Given the description of an element on the screen output the (x, y) to click on. 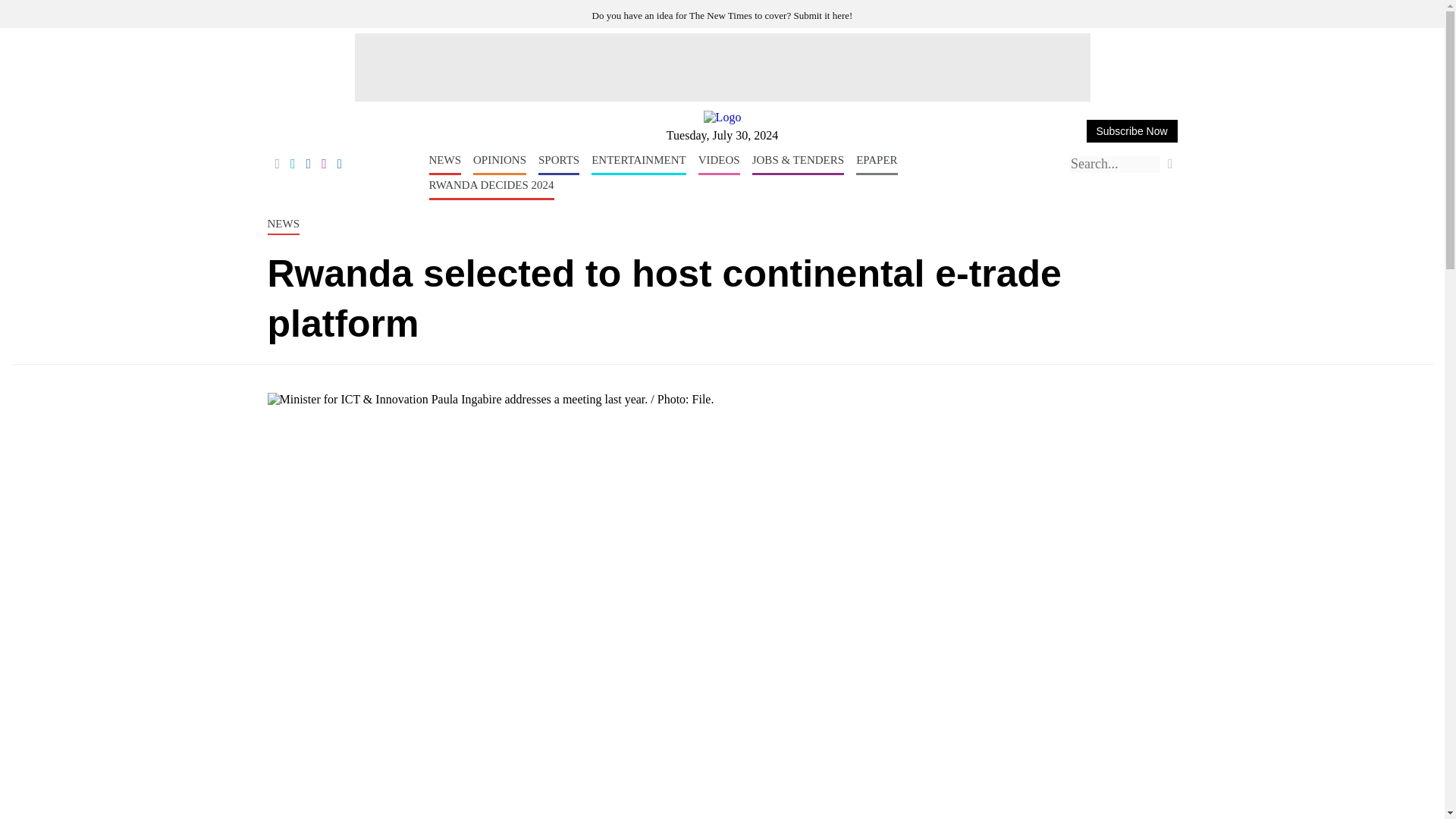
News (445, 164)
OPINIONS (499, 164)
Subscribe Now (1131, 130)
SPORTS (558, 164)
Submit New Ideas (722, 15)
The New Times (722, 116)
NEWS (445, 164)
